Given the description of an element on the screen output the (x, y) to click on. 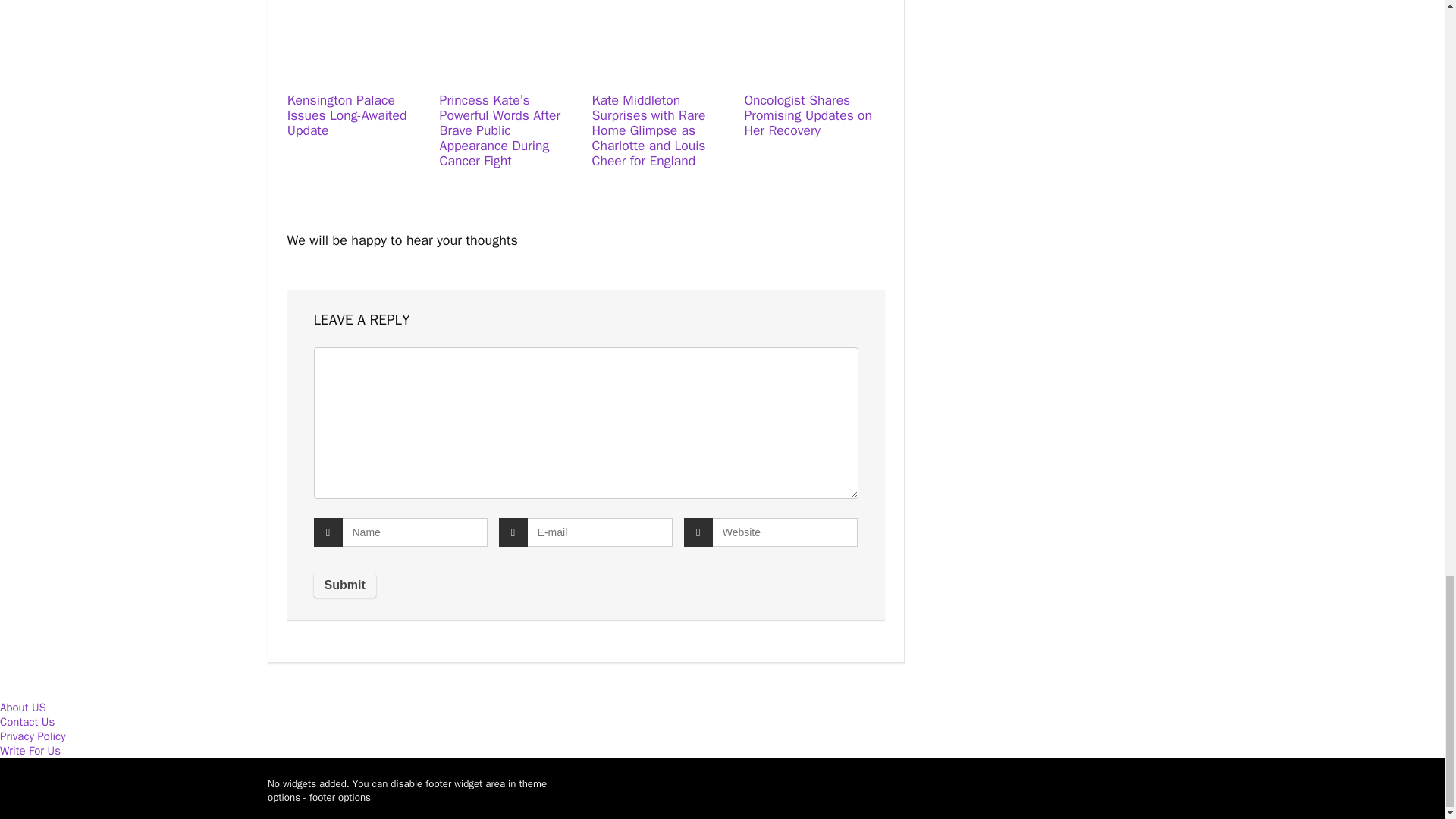
Submit (344, 585)
Oncologist Shares Promising Updates on Her Recovery (808, 114)
Kensington Palace Issues Long-Awaited Update (346, 114)
Submit (344, 585)
